Given the description of an element on the screen output the (x, y) to click on. 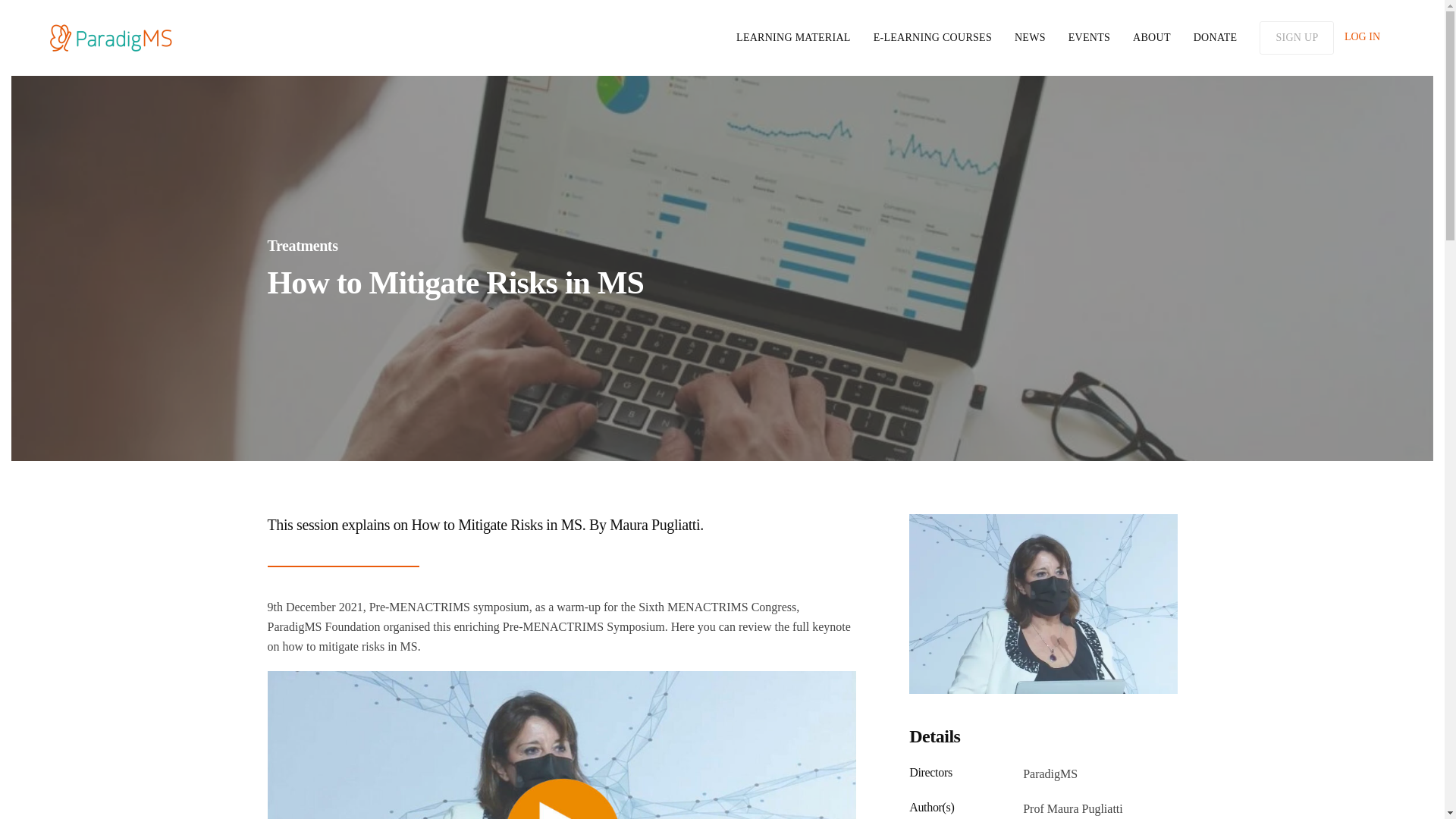
SIGN UP (1296, 37)
Treatments (301, 245)
How to Mitigate Risks in MS (721, 282)
ABOUT (1151, 37)
LOG IN (1361, 36)
E-LEARNING COURSES (932, 37)
Details (1042, 736)
EVENTS (1088, 37)
Treatments (721, 245)
NEWS (1029, 37)
DONATE (1215, 37)
LEARNING MATERIAL (793, 37)
